Given the description of an element on the screen output the (x, y) to click on. 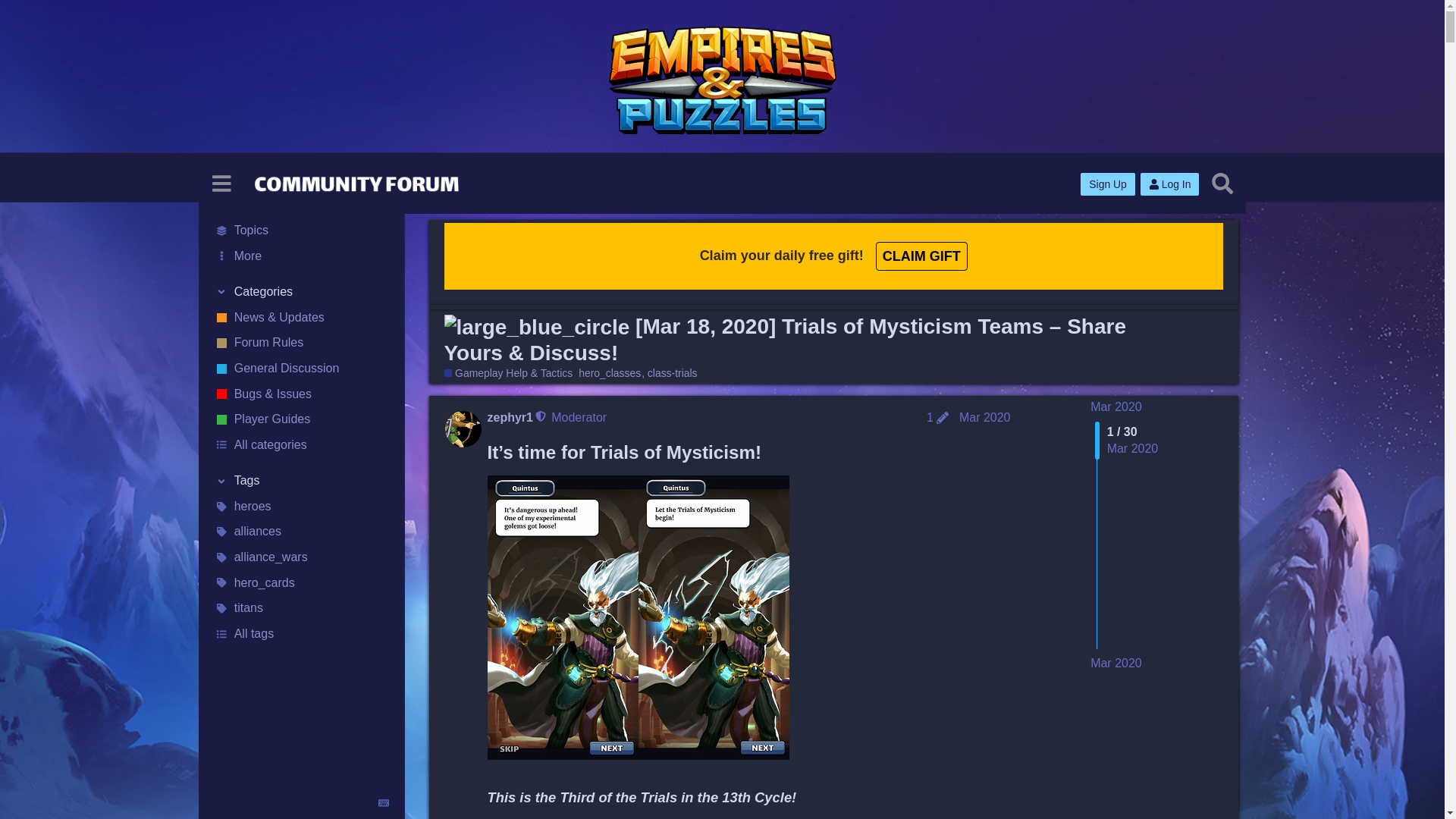
All tags (301, 633)
Toggle section (301, 292)
Toggle section (301, 481)
Categories (301, 292)
Mar 2020 (1115, 406)
Sidebar (221, 183)
General Discussion (301, 368)
Log In (1169, 183)
Forum Rules (301, 343)
